Given the description of an element on the screen output the (x, y) to click on. 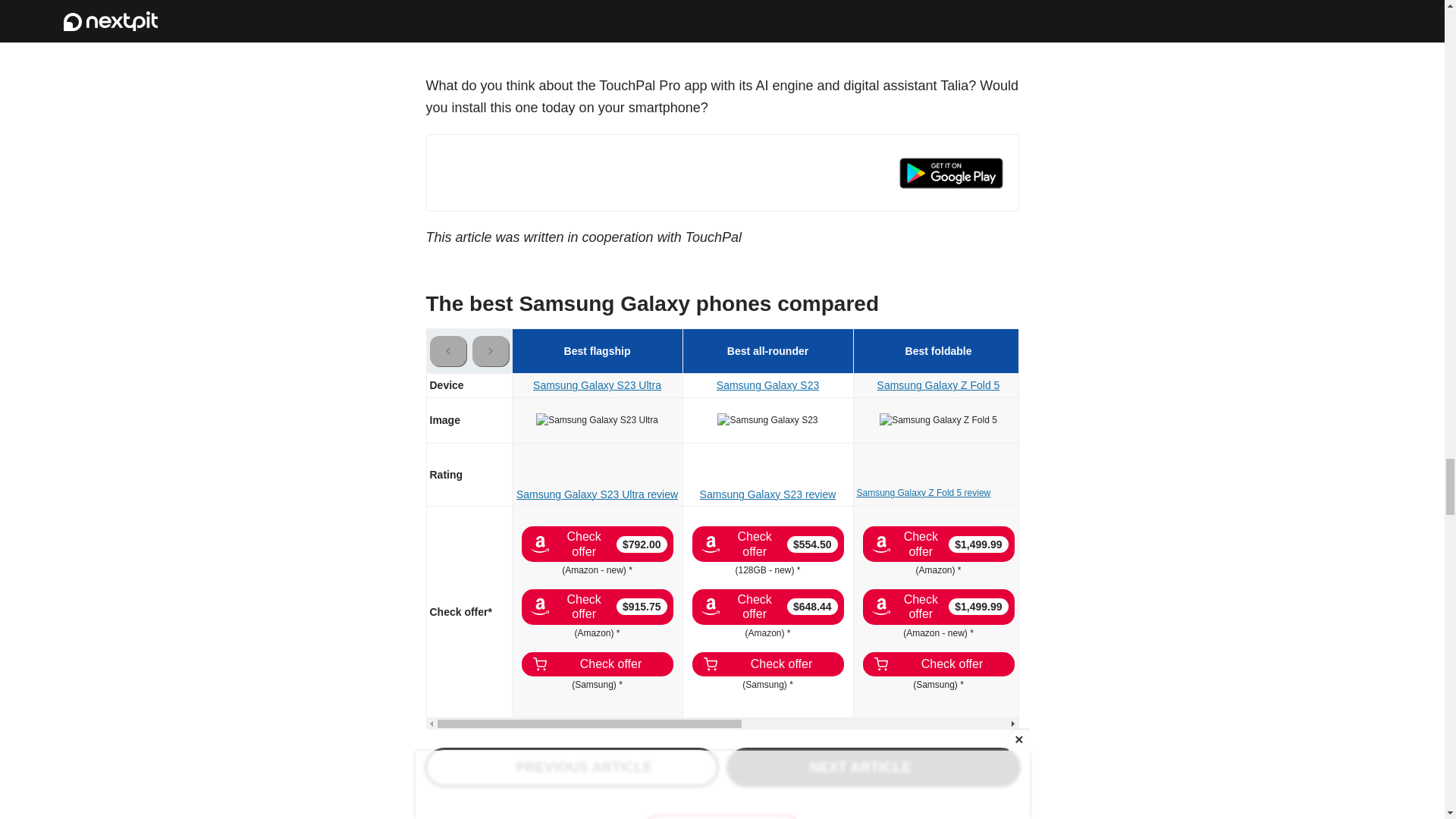
Samsung Galaxy S23 (766, 420)
Samsung Galaxy Z Flip 5 (1108, 420)
Samsung Galaxy Z Fold 5 (938, 420)
Samsung Galaxy A54 (1279, 420)
Samsung Galaxy S23 Ultra (596, 420)
